Given the description of an element on the screen output the (x, y) to click on. 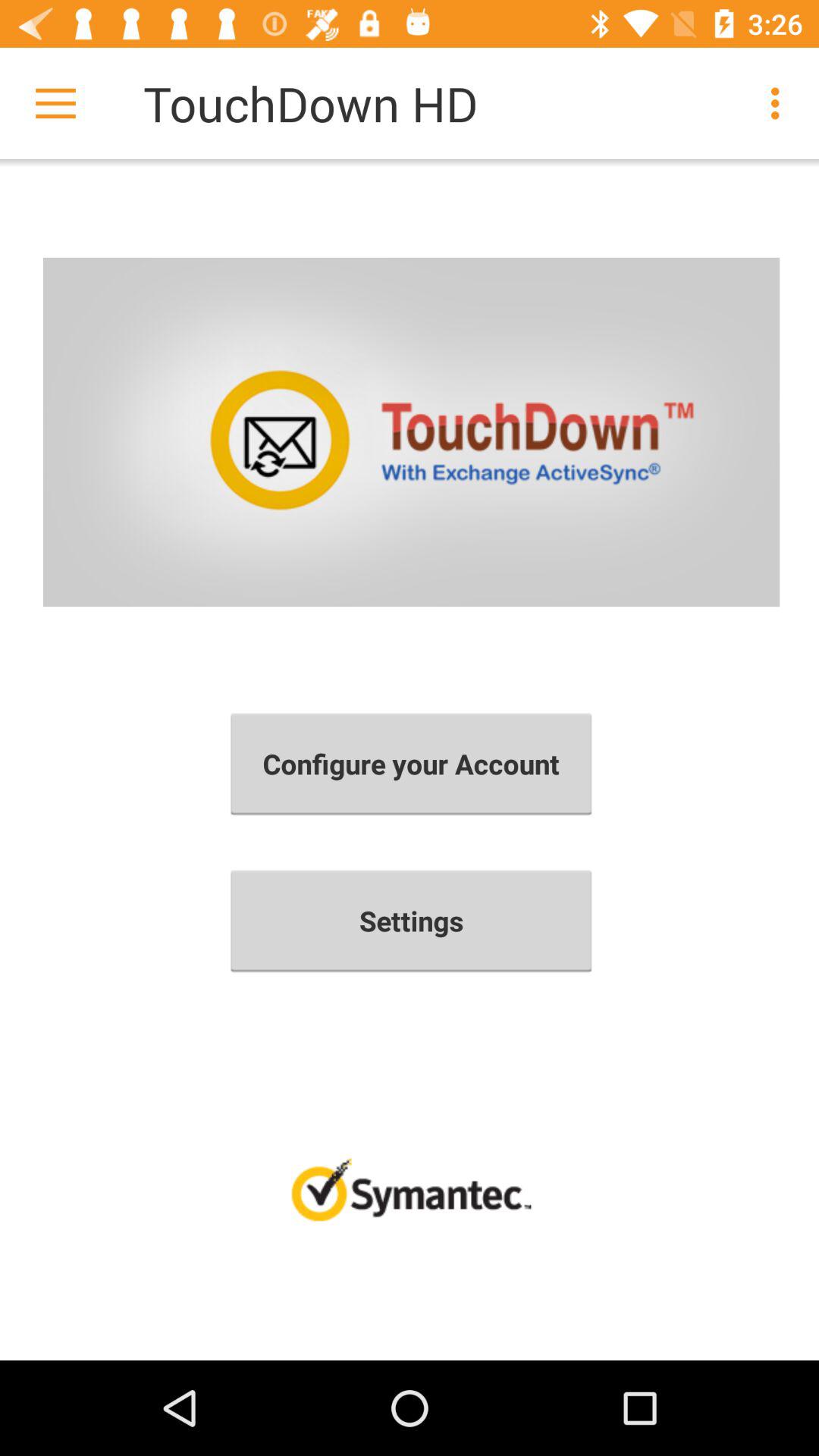
open icon next to the touchdown hd item (55, 103)
